Given the description of an element on the screen output the (x, y) to click on. 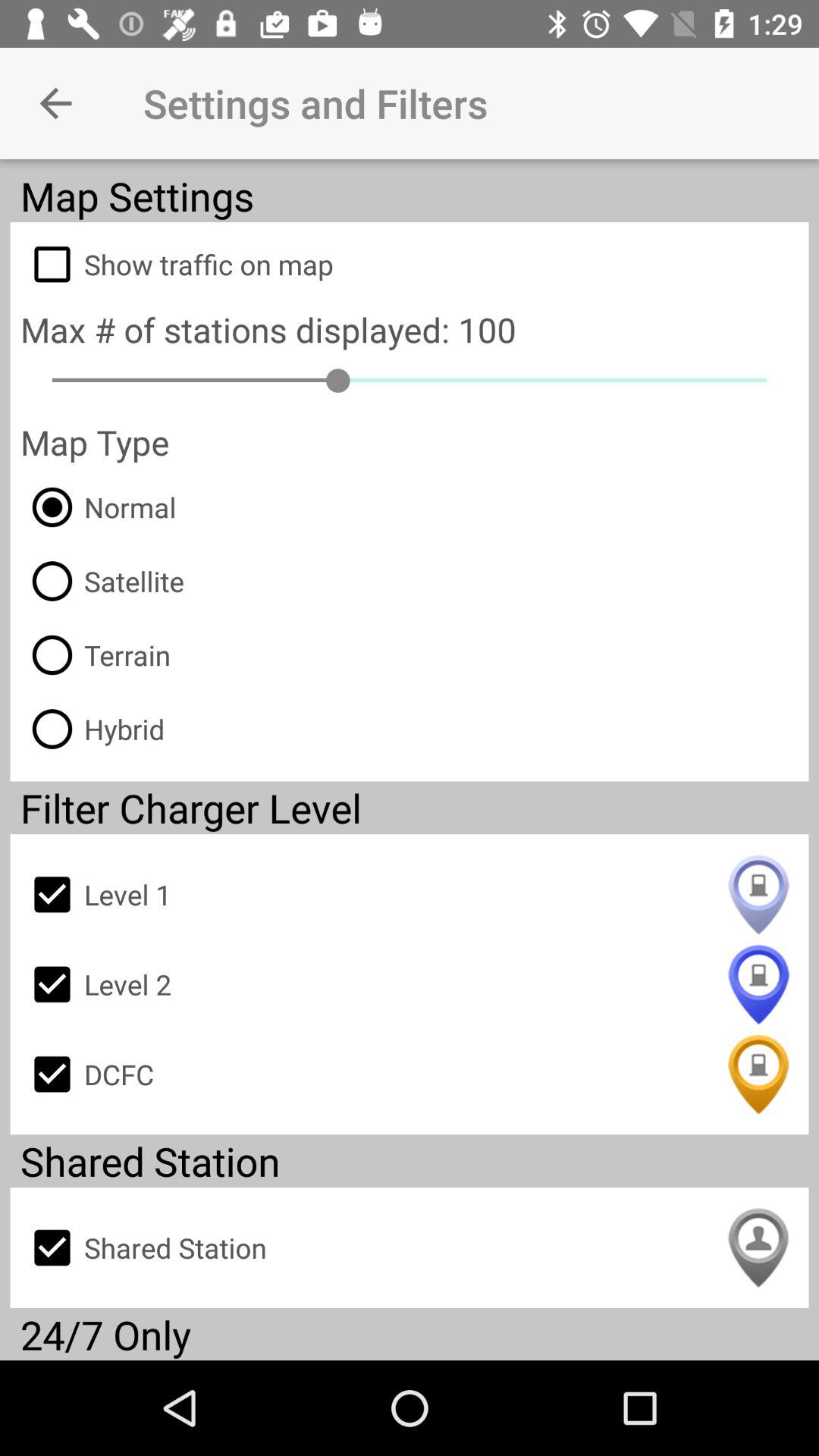
tap the satellite (102, 581)
